Given the description of an element on the screen output the (x, y) to click on. 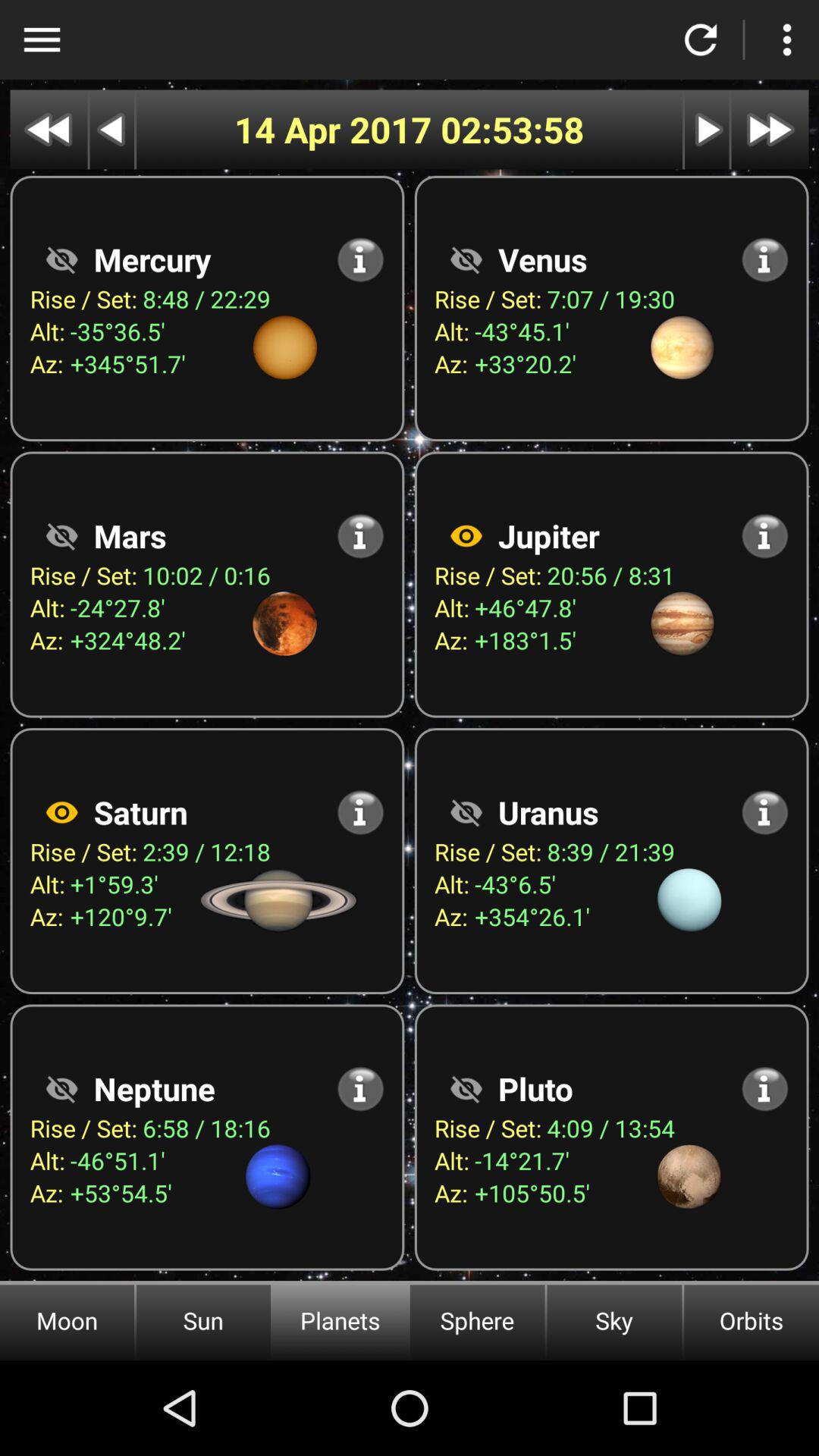
click for dropdown box (41, 39)
